Given the description of an element on the screen output the (x, y) to click on. 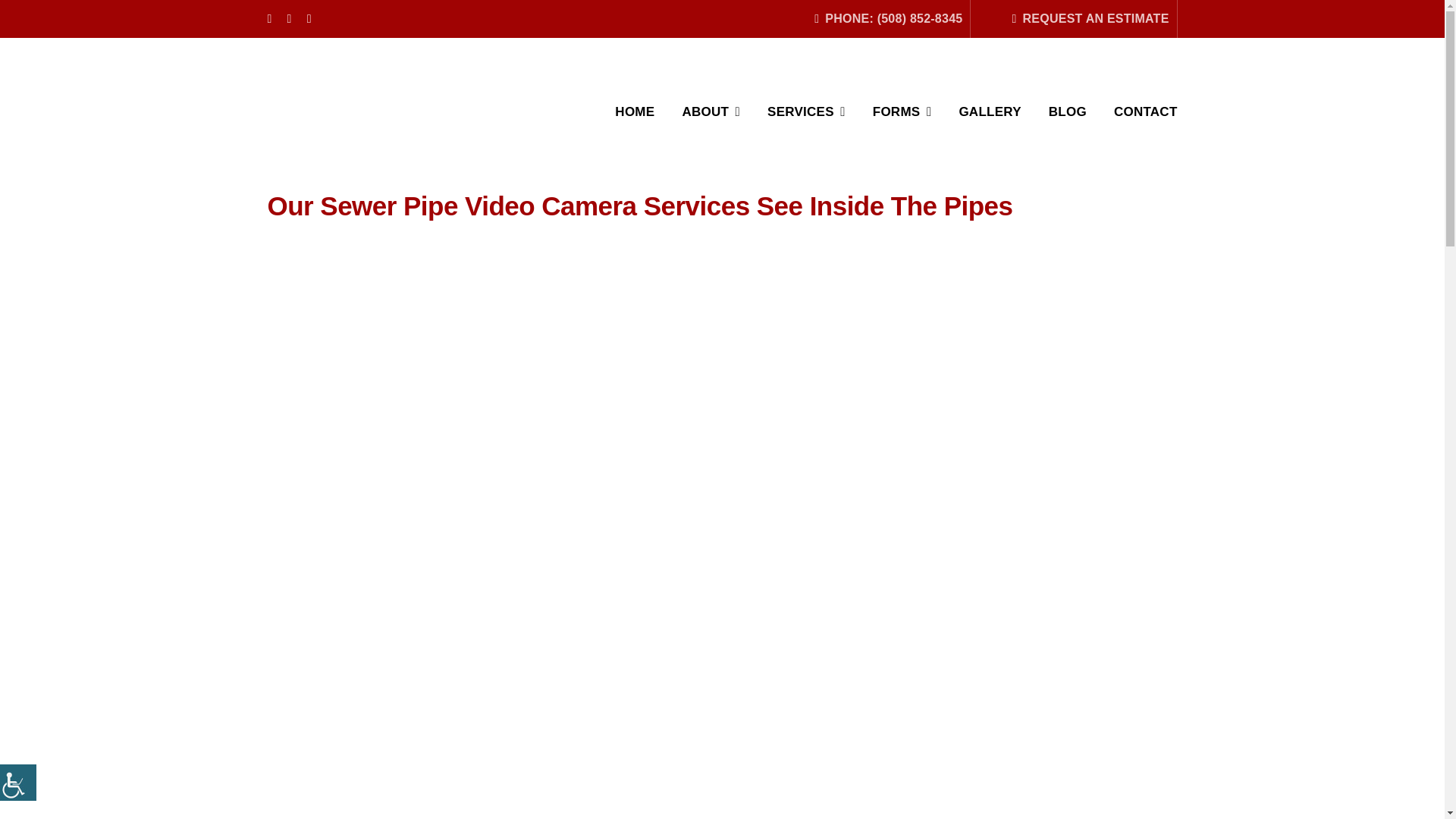
CONTACT (1145, 112)
GALLERY (989, 112)
Accessibility Helper sidebar (18, 782)
ABOUT (710, 112)
FORMS (901, 112)
BLOG (1067, 112)
SERVICES (806, 112)
REQUEST AN ESTIMATE (1086, 18)
HOME (633, 112)
